Given the description of an element on the screen output the (x, y) to click on. 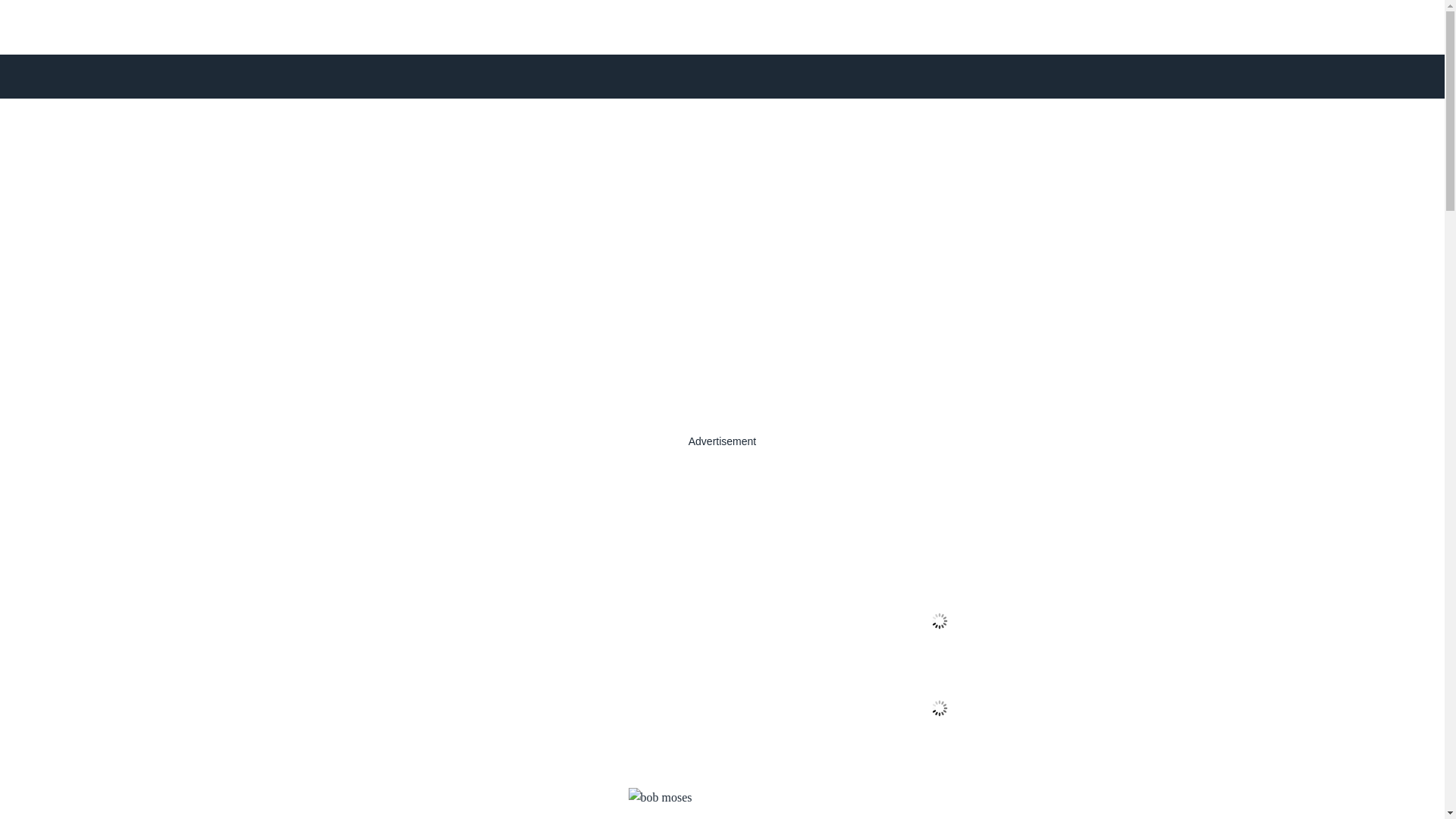
3rd party ad content (1017, 799)
